Given the description of an element on the screen output the (x, y) to click on. 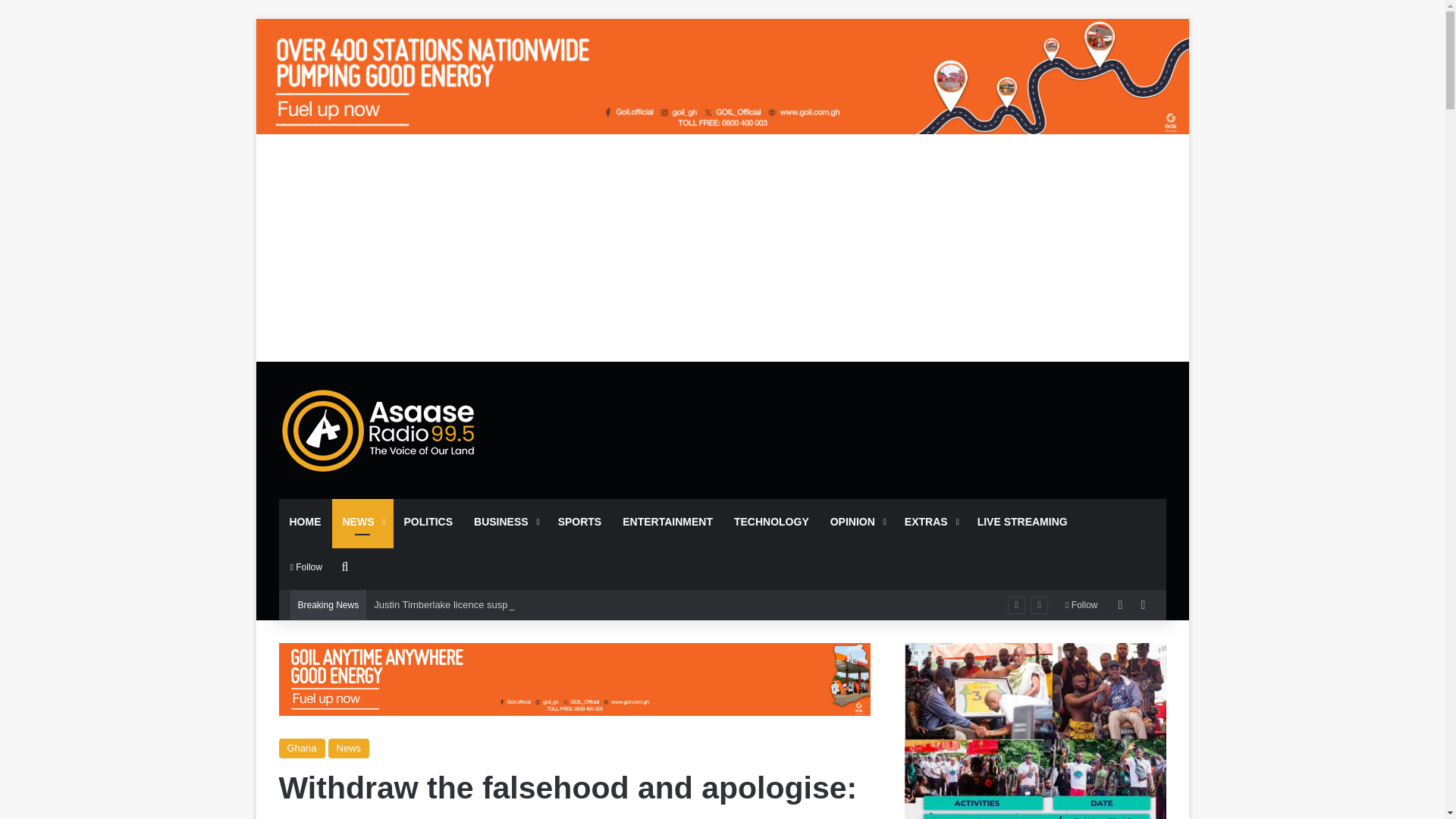
POLITICS (428, 521)
NEWS (362, 521)
HOME (305, 521)
BUSINESS (505, 521)
Asaase Radio (379, 429)
